Given the description of an element on the screen output the (x, y) to click on. 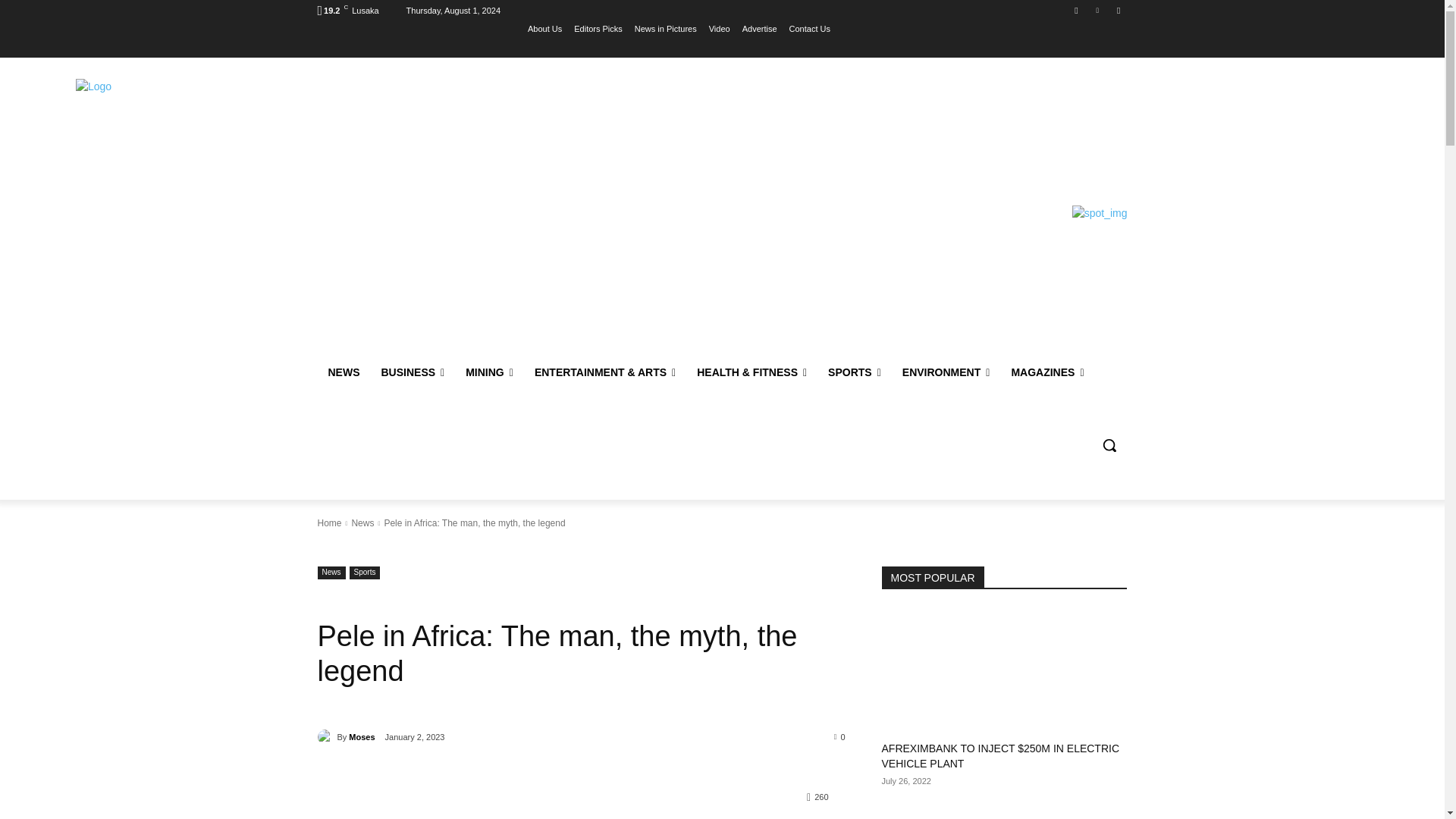
Contact Us (809, 28)
NEWS (343, 371)
News in Pictures (665, 28)
Youtube (1117, 9)
Twitter (1097, 9)
Instagram (1075, 9)
Advertise (759, 28)
Editors Picks (598, 28)
About Us (544, 28)
BUSINESS (411, 371)
Video (719, 28)
